Given the description of an element on the screen output the (x, y) to click on. 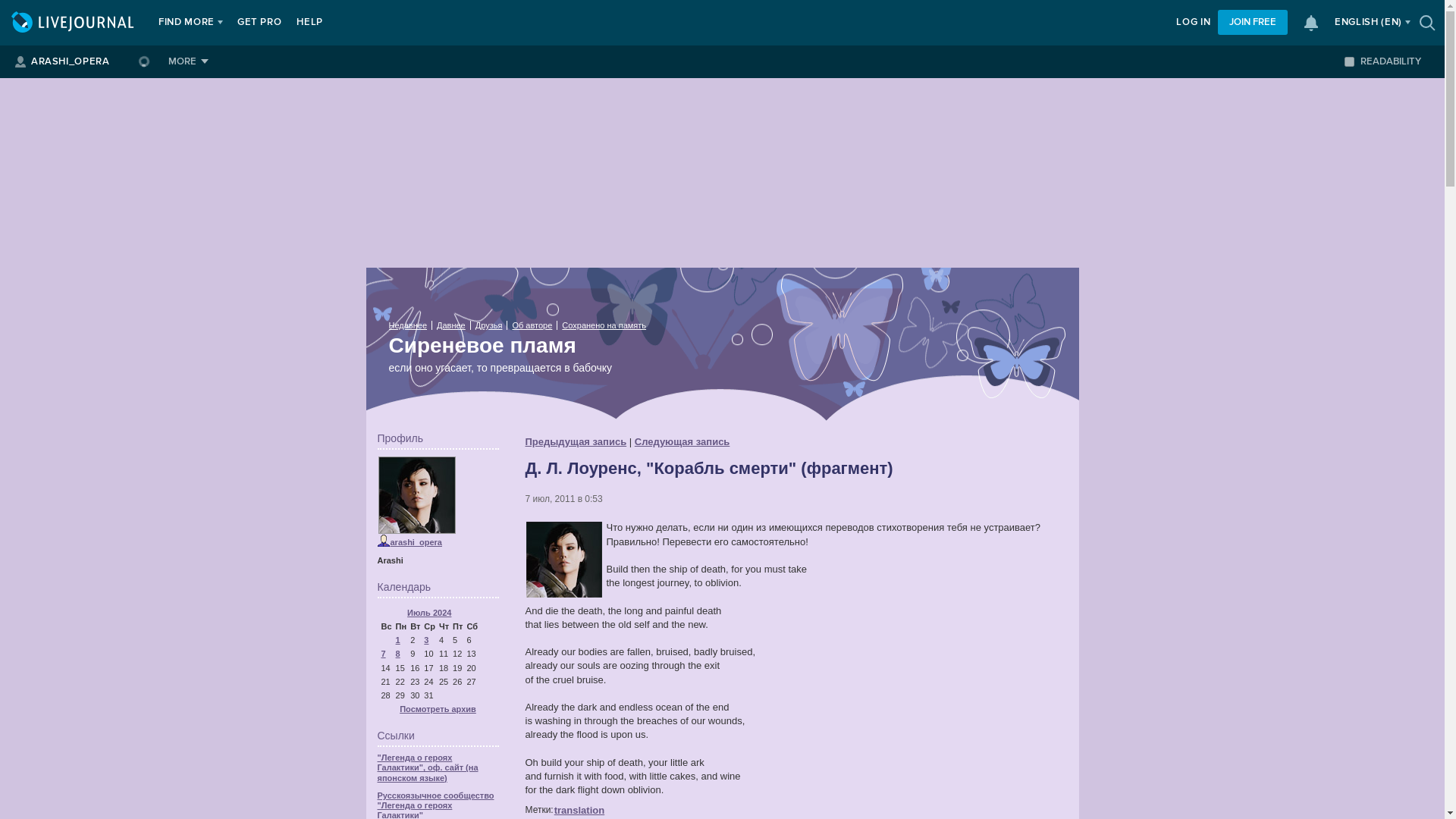
GET PRO (259, 22)
on (1348, 61)
LOG IN (1193, 22)
LIVEJOURNAL (73, 22)
JOIN FREE (1252, 22)
HELP (309, 22)
FIND MORE (186, 22)
MORE (187, 61)
